Given the description of an element on the screen output the (x, y) to click on. 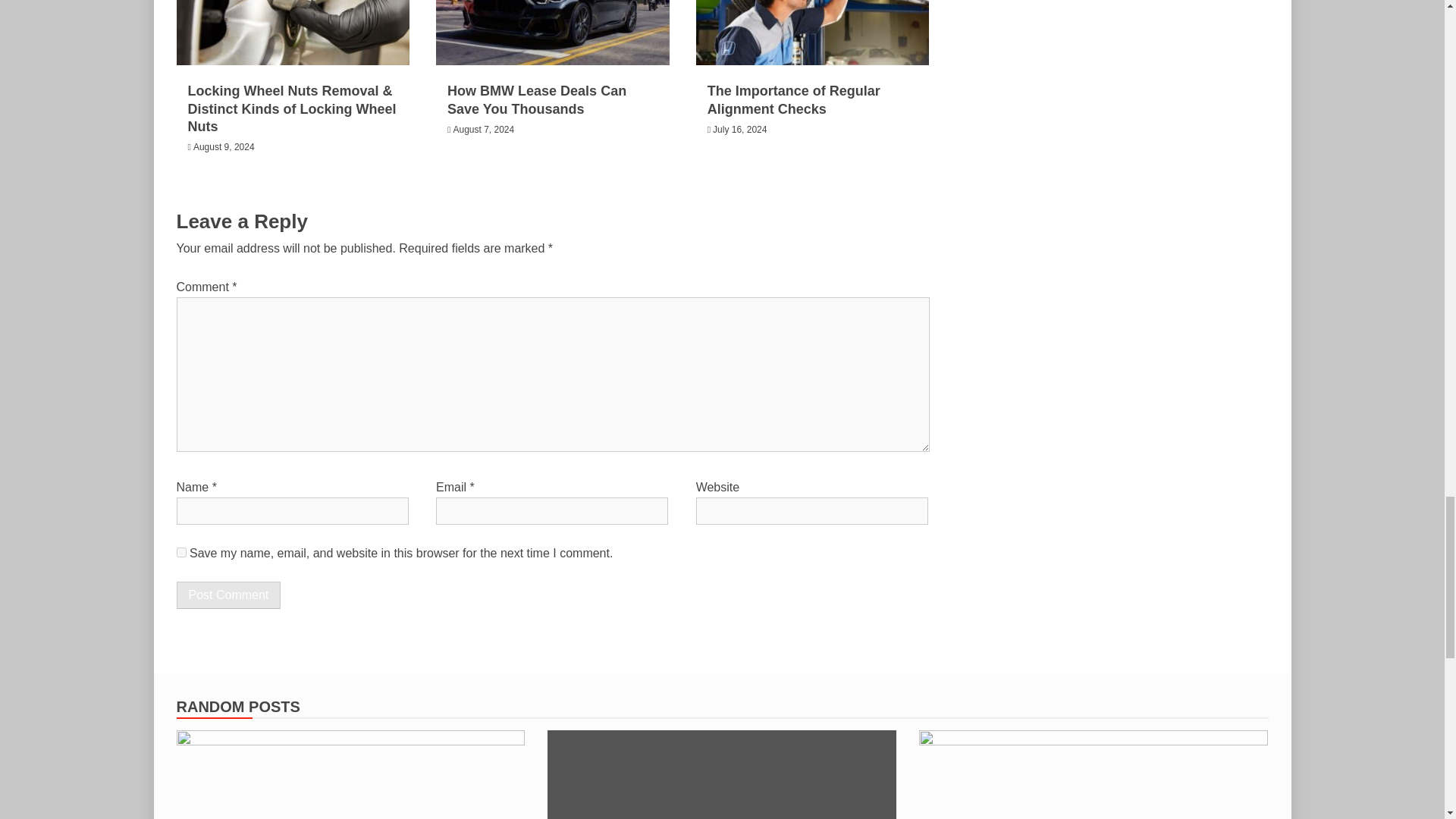
Post Comment (228, 595)
August 7, 2024 (482, 129)
How BMW Lease Deals Can Save You Thousands (536, 99)
August 9, 2024 (223, 146)
yes (181, 552)
